Given the description of an element on the screen output the (x, y) to click on. 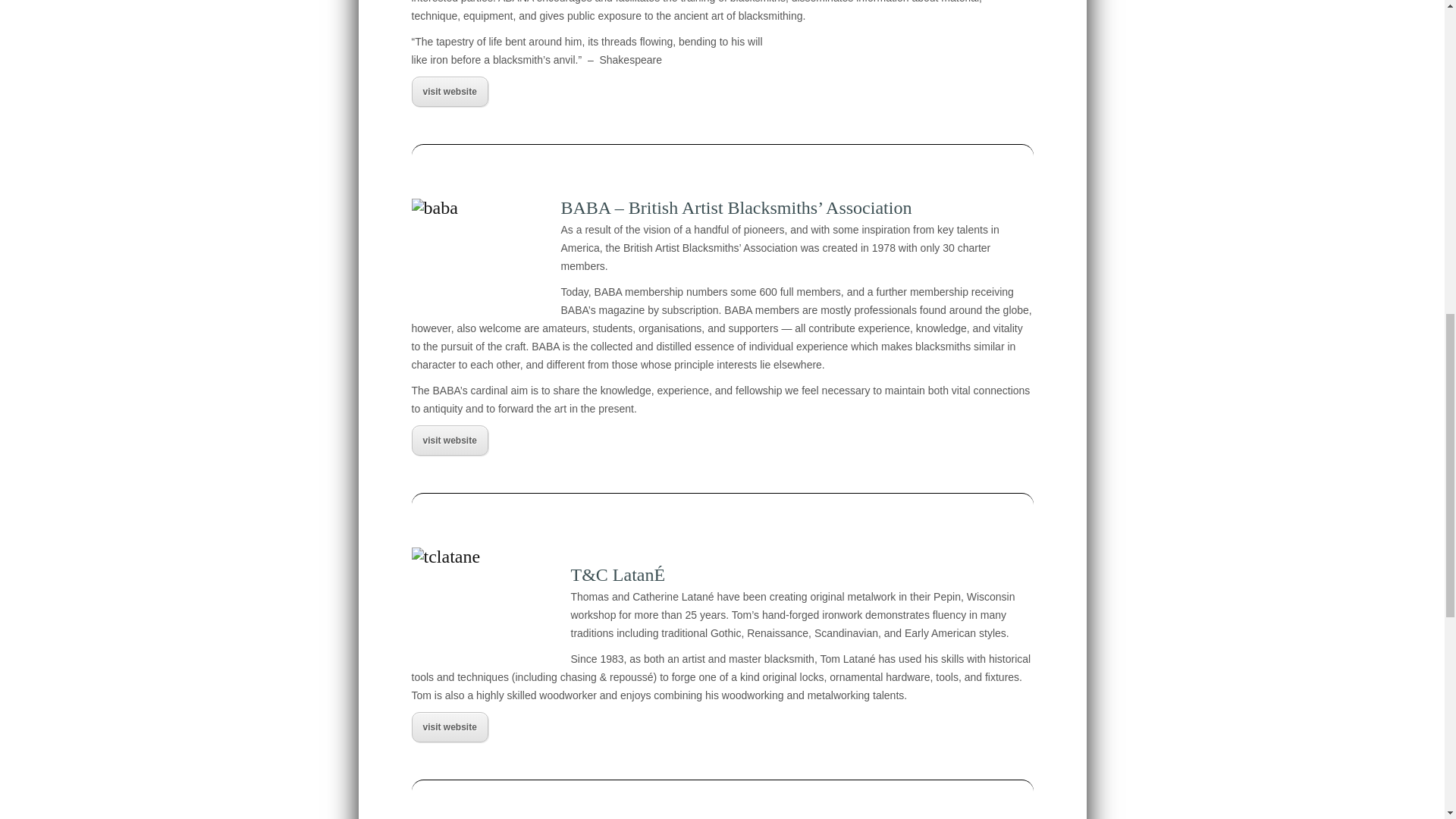
visit website (448, 440)
visit website (448, 726)
visit website (448, 91)
